Given the description of an element on the screen output the (x, y) to click on. 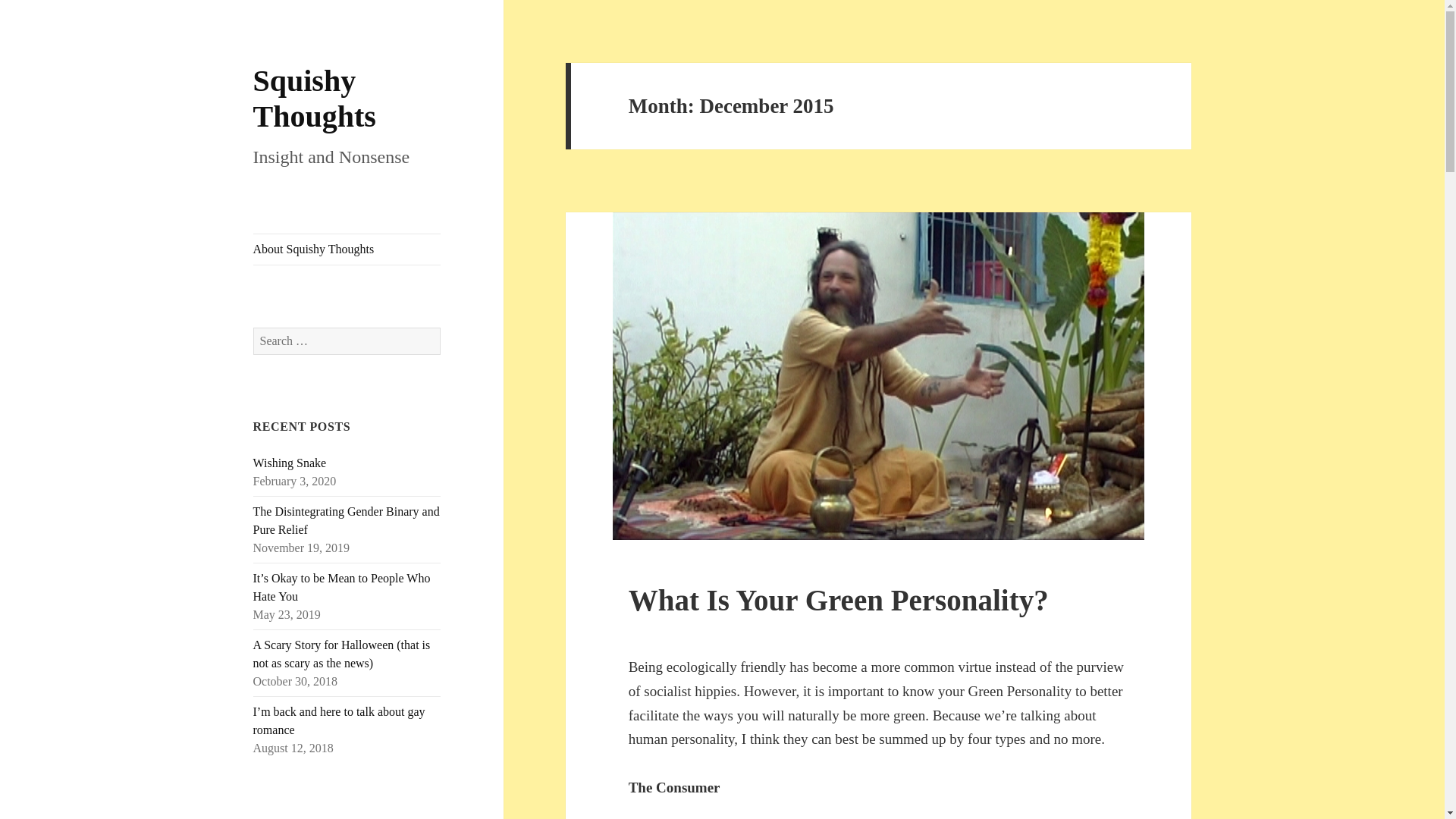
About Squishy Thoughts (347, 249)
Squishy Thoughts (314, 98)
The Disintegrating Gender Binary and Pure Relief (346, 520)
Wishing Snake (289, 462)
